Given the description of an element on the screen output the (x, y) to click on. 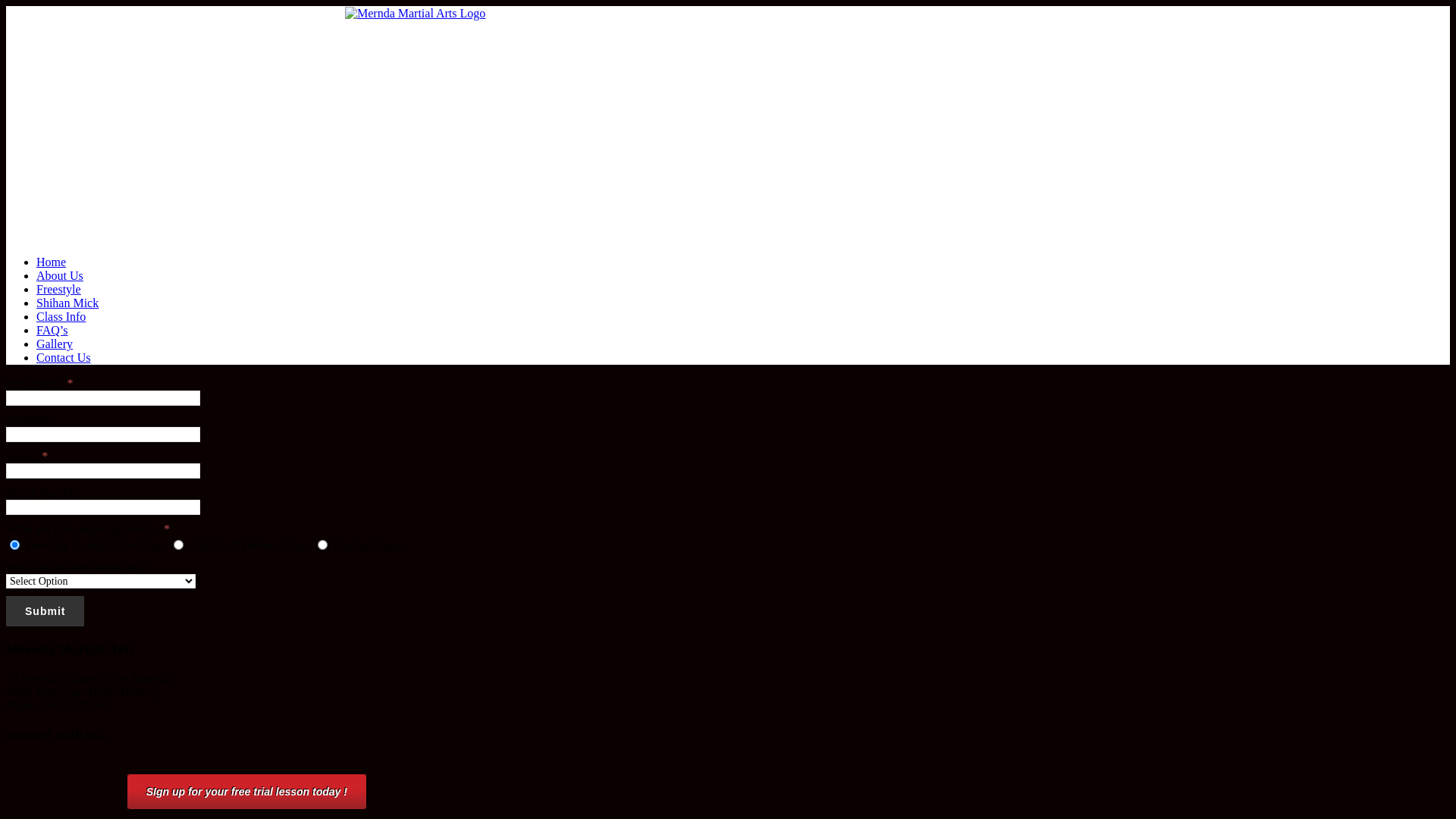
Mernda Martial Arts Element type: hover (727, 124)
Class Info Element type: text (60, 316)
About Us Element type: text (59, 275)
Home Element type: text (50, 261)
Freestyle Element type: text (58, 289)
SIgn up for your free trial lesson today ! Element type: text (246, 791)
Submit Element type: text (45, 611)
Gallery Element type: text (54, 343)
Contact Us Element type: text (63, 357)
Shihan Mick Element type: text (67, 302)
